Given the description of an element on the screen output the (x, y) to click on. 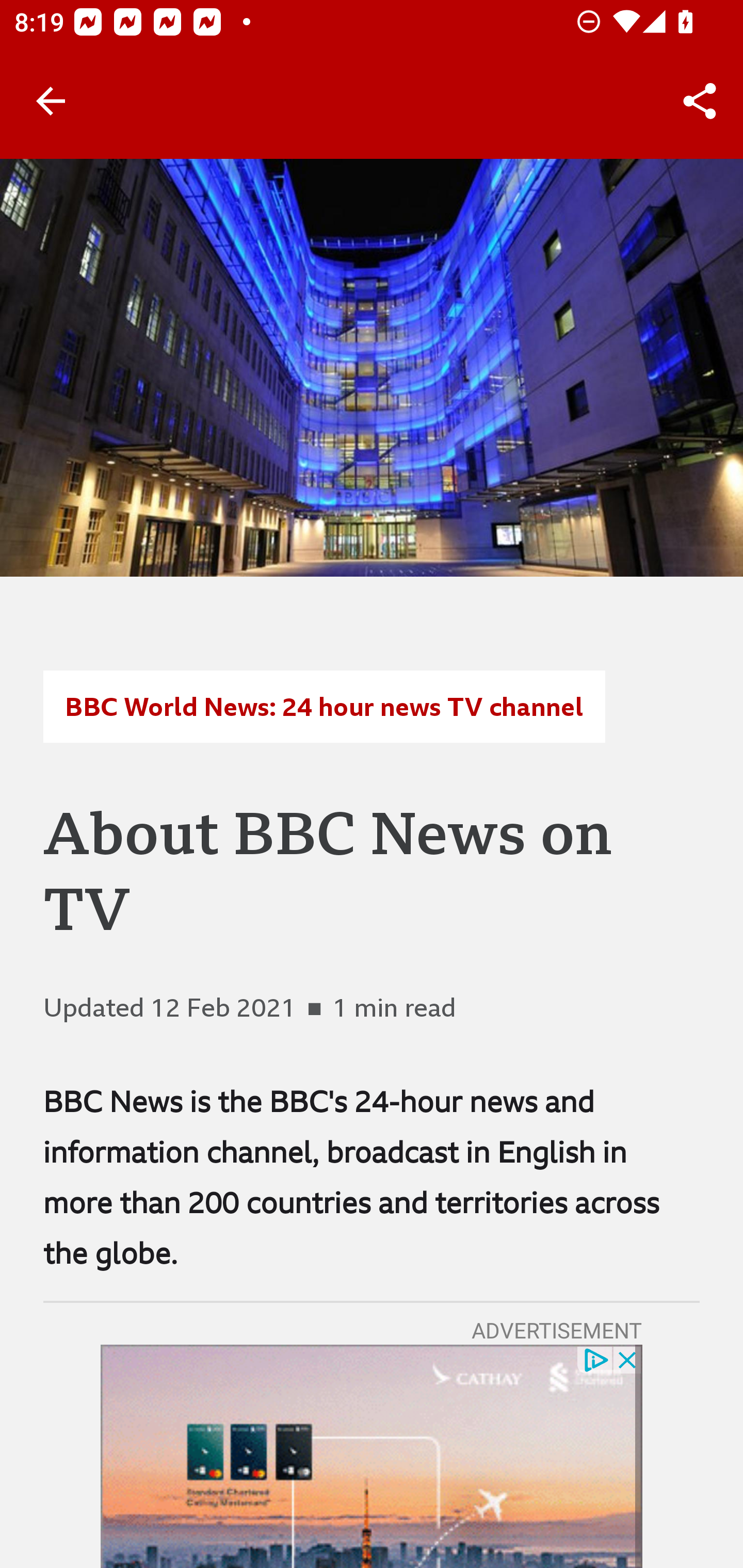
Back (50, 101)
Share (699, 101)
BBC building (371, 367)
BBC World News: 24 hour news TV channel (324, 706)
privacy_small (595, 1359)
close_button (627, 1359)
